Given the description of an element on the screen output the (x, y) to click on. 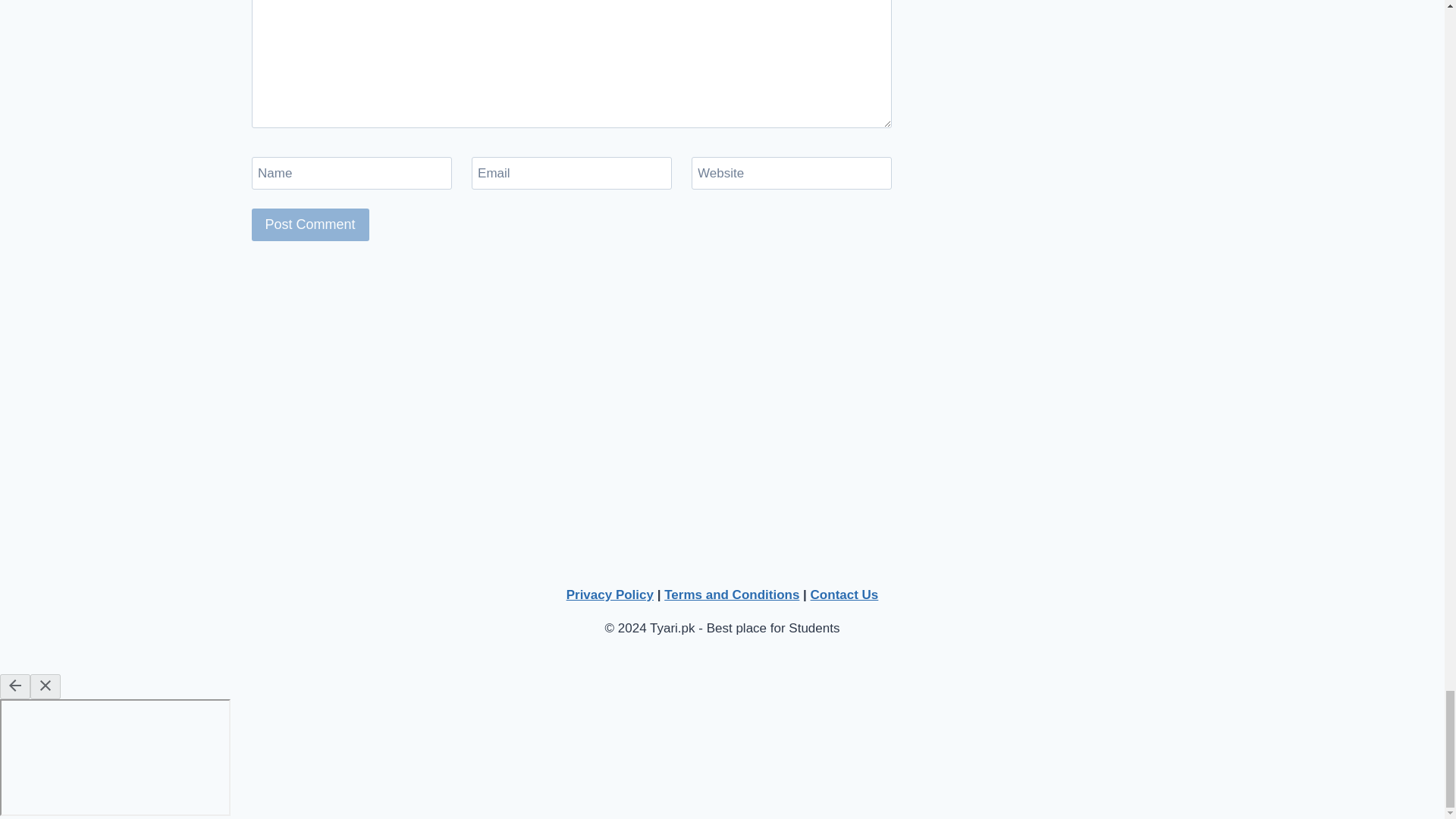
Privacy Policy (609, 594)
Post Comment (310, 224)
Contact Us (844, 594)
Terms and Conditions (731, 594)
Post Comment (310, 224)
